Given the description of an element on the screen output the (x, y) to click on. 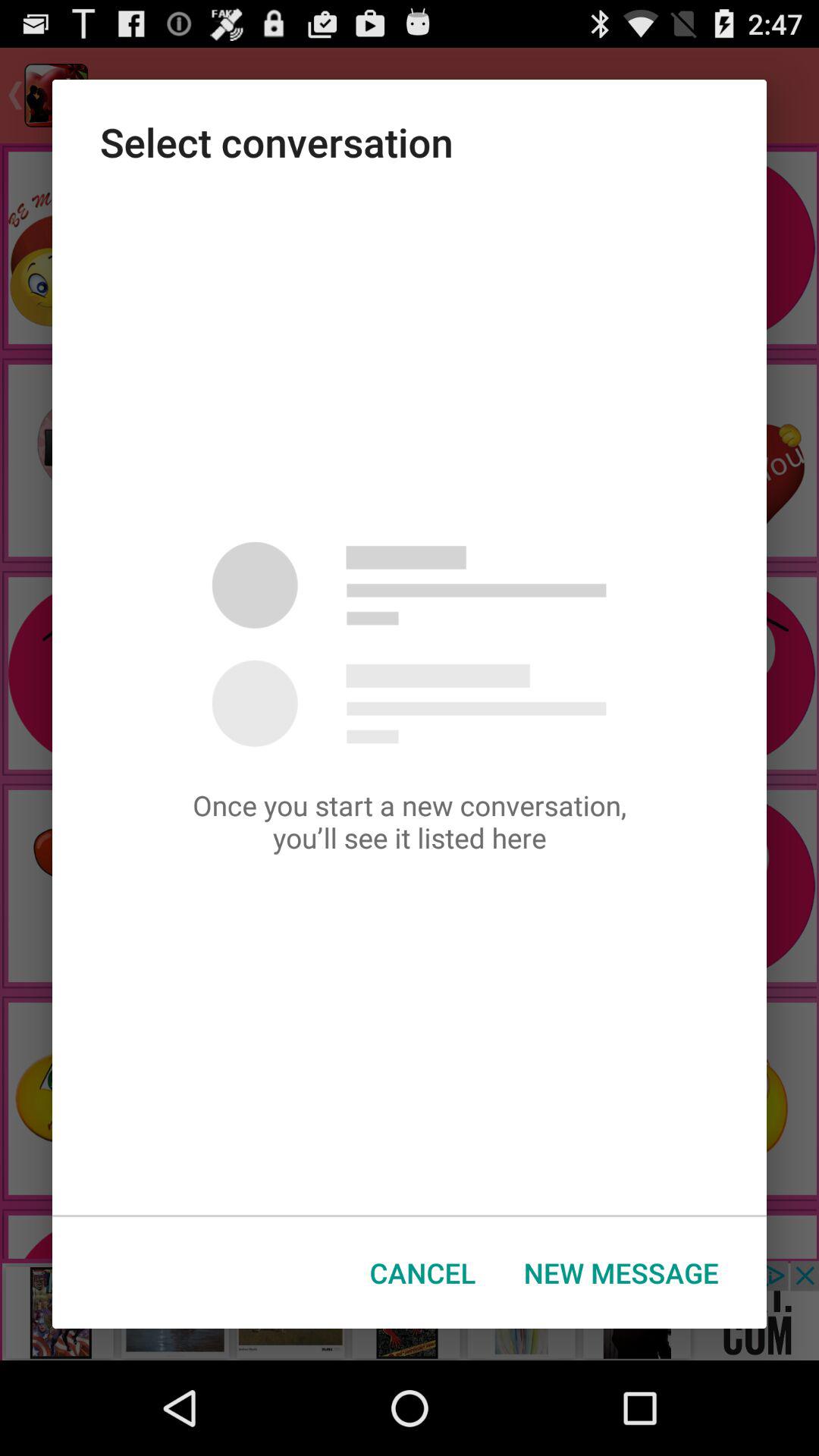
swipe to the new message (620, 1272)
